Given the description of an element on the screen output the (x, y) to click on. 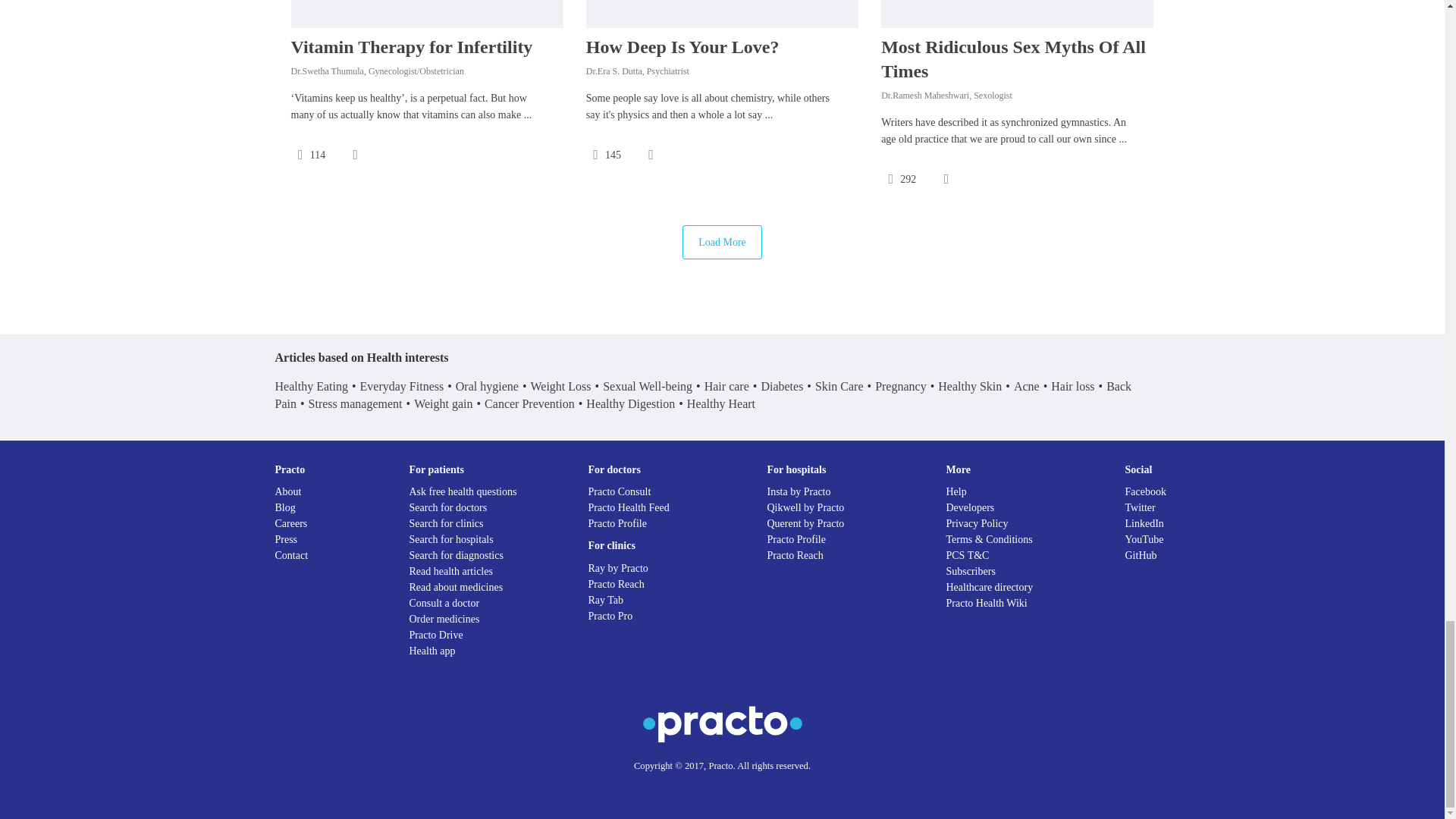
Search for doctors (448, 507)
Search for diagnostics (456, 555)
Press (286, 539)
Search for clinics (446, 523)
Ask free health questions (462, 491)
Blog (285, 507)
Order medicines (444, 618)
Search for hospitals (451, 539)
About (288, 491)
Practo Drive (436, 634)
Read about medicines (456, 586)
Consult a doctor (444, 603)
Careers (291, 523)
Read Health Articles (451, 571)
Contact (291, 555)
